Given the description of an element on the screen output the (x, y) to click on. 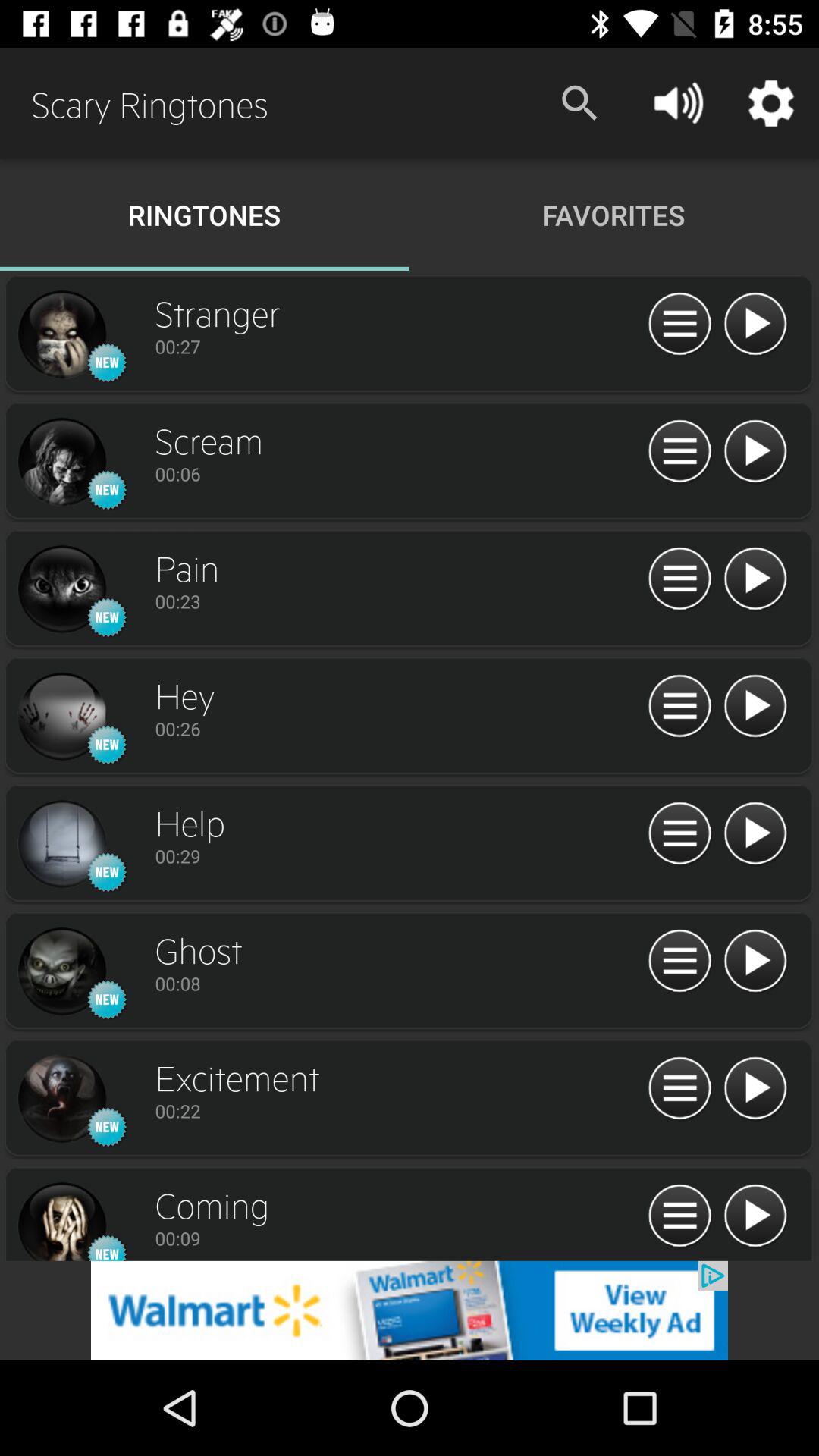
play audio (755, 961)
